Given the description of an element on the screen output the (x, y) to click on. 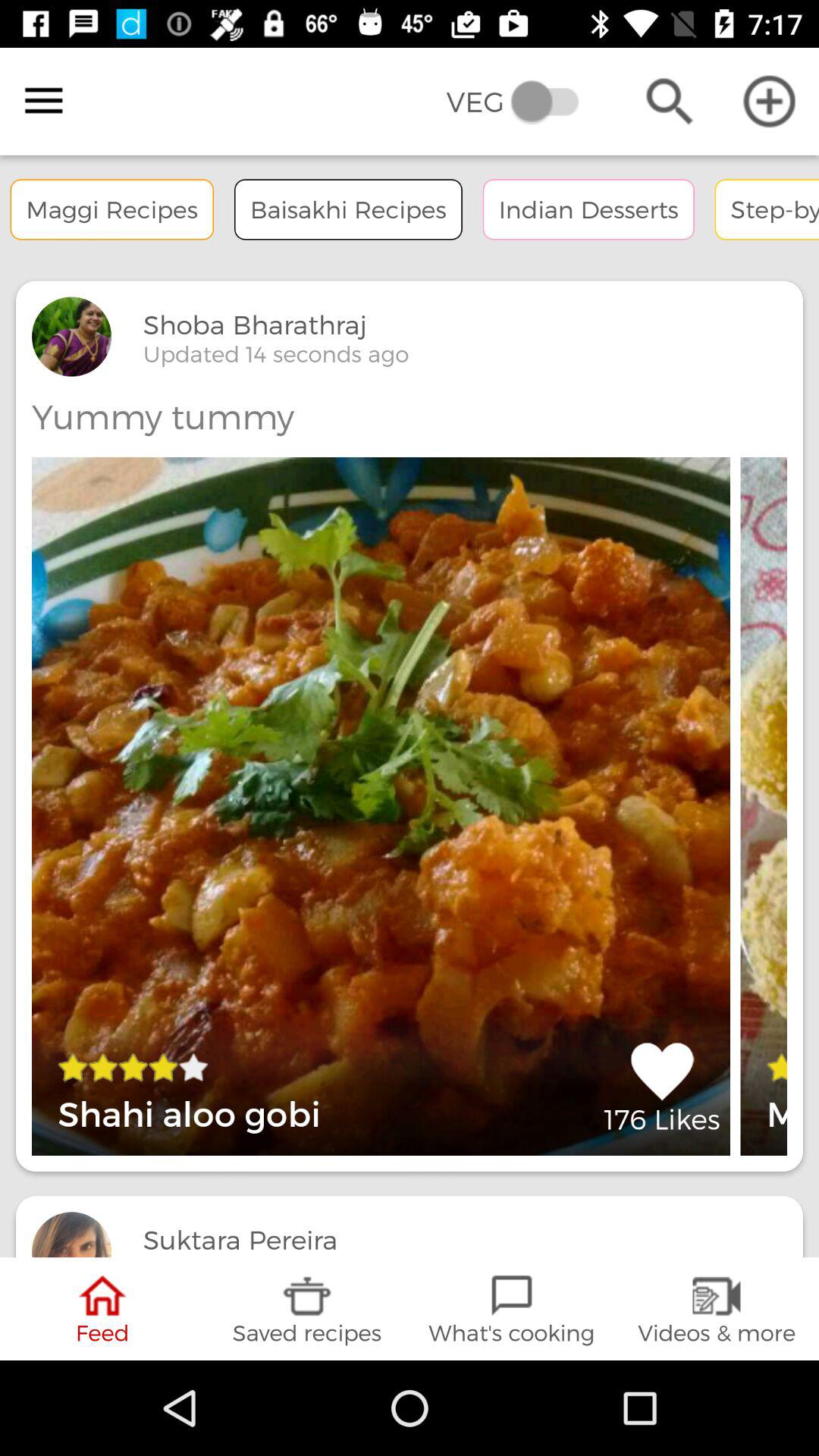
turn on the icon to the right of the veg item (669, 101)
